Given the description of an element on the screen output the (x, y) to click on. 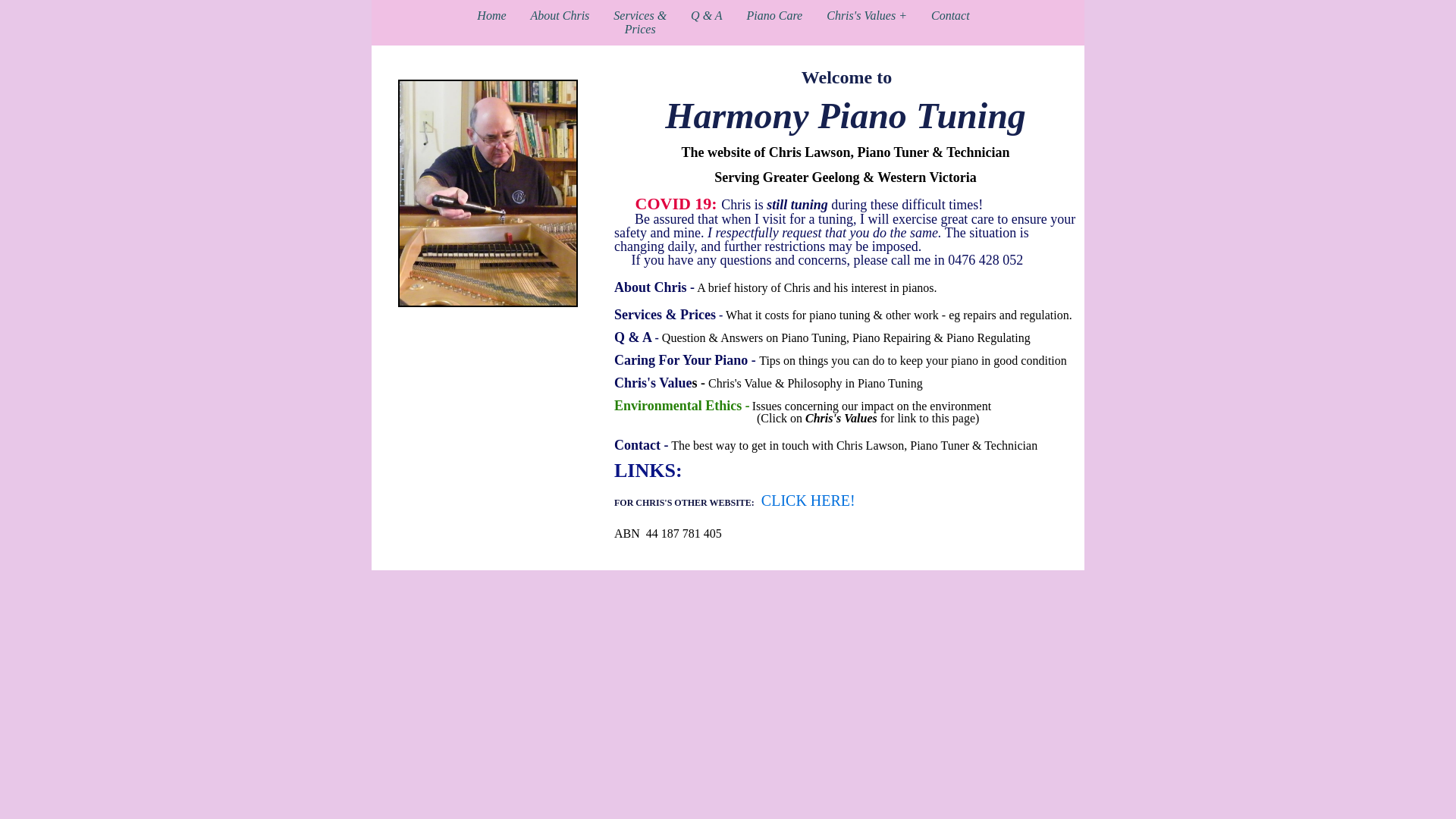
Piano Care Element type: text (778, 15)
Q & A Element type: text (710, 15)
Chris's Values + Element type: text (870, 15)
Contact Element type: text (954, 15)
Services &
Prices Element type: text (643, 22)
Home Element type: text (494, 15)
About Chris Element type: text (564, 15)
CLICK HERE! Element type: text (807, 502)
